Given the description of an element on the screen output the (x, y) to click on. 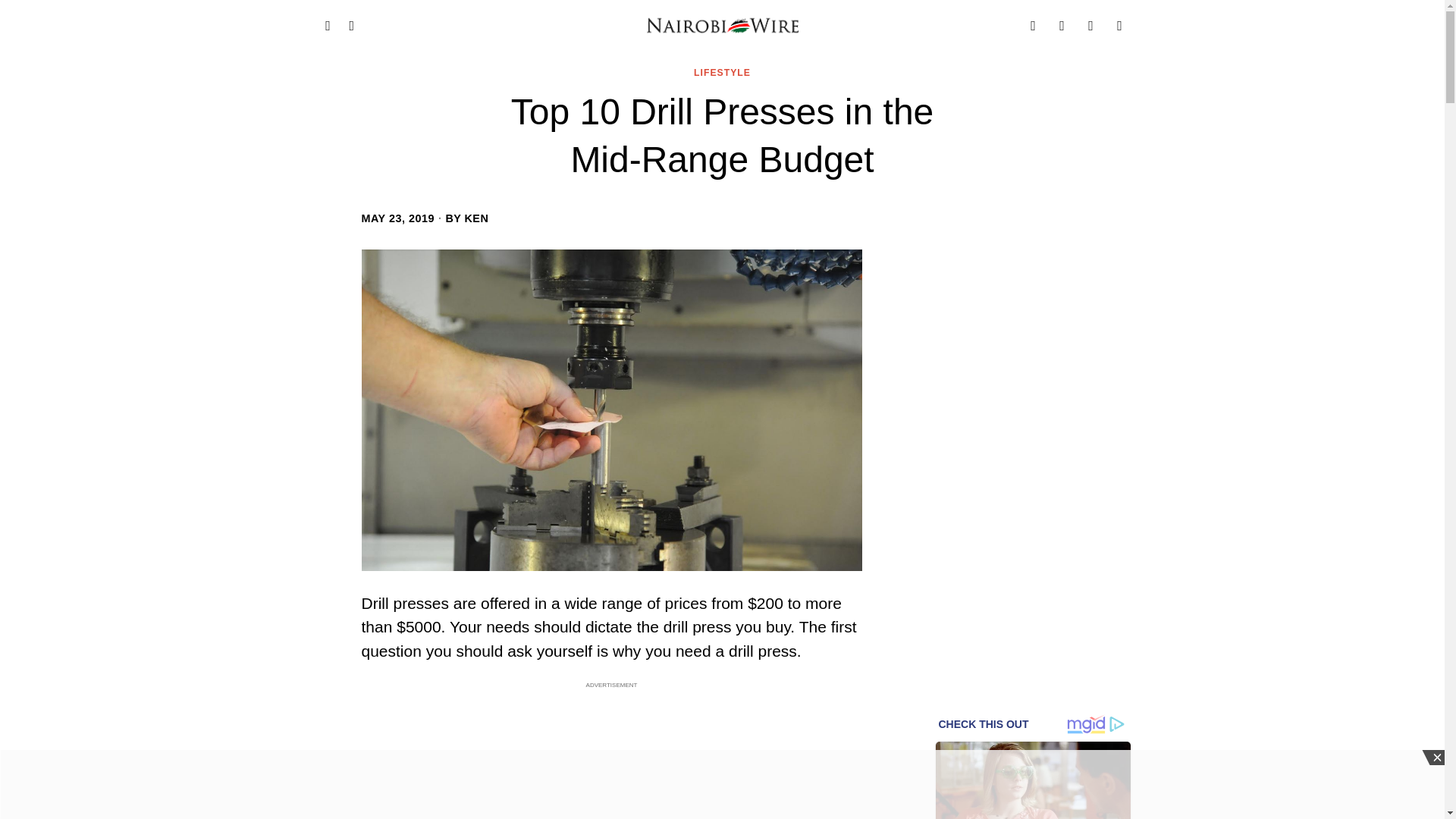
KEN (475, 218)
23 May, 2019 06:42:42 (397, 218)
LIFESTYLE (722, 73)
